Given the description of an element on the screen output the (x, y) to click on. 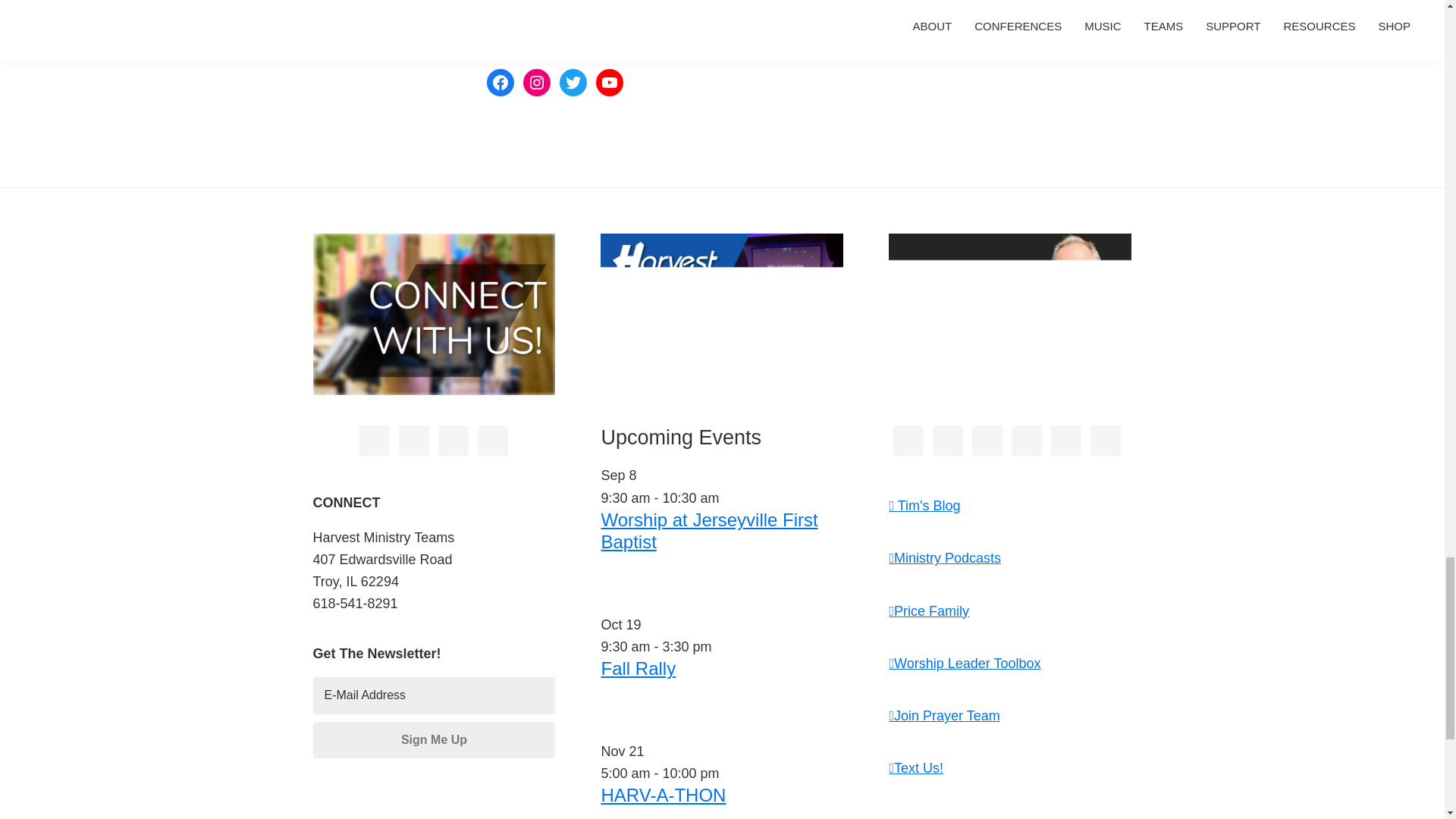
Instagram (536, 82)
HARV-A-THON (662, 794)
Fall Rally (637, 668)
Facebook (499, 82)
Worship at Jerseyville First Baptist (707, 530)
Sign Me Up (433, 739)
